Given the description of an element on the screen output the (x, y) to click on. 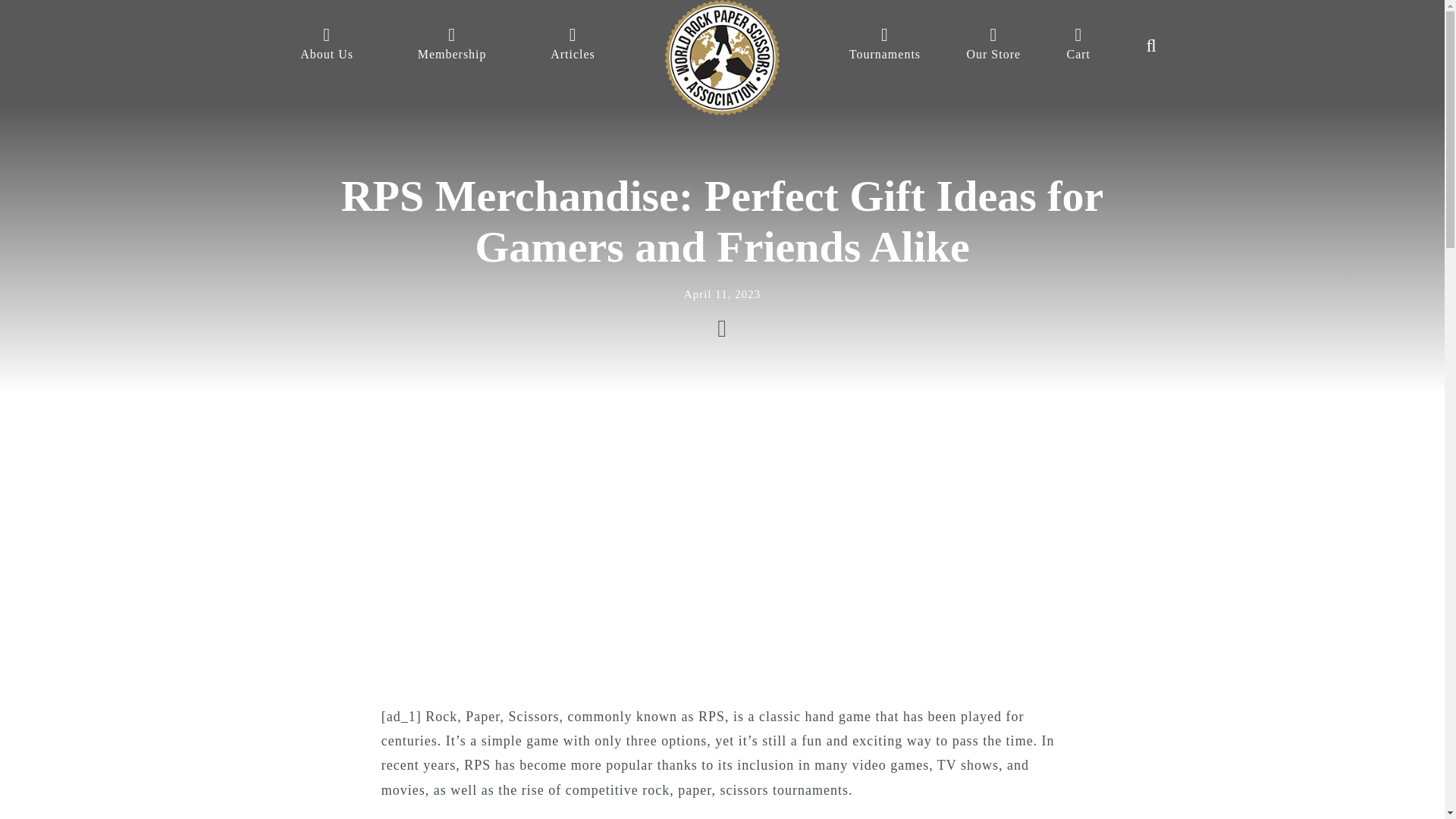
Articles (572, 45)
Membership (451, 45)
Advertisement (1281, 544)
About Us (326, 45)
Our Store (993, 45)
Advertisement (1281, 752)
Advertisement (162, 544)
Cart (1078, 45)
Tournaments (884, 45)
Advertisement (162, 752)
